Given the description of an element on the screen output the (x, y) to click on. 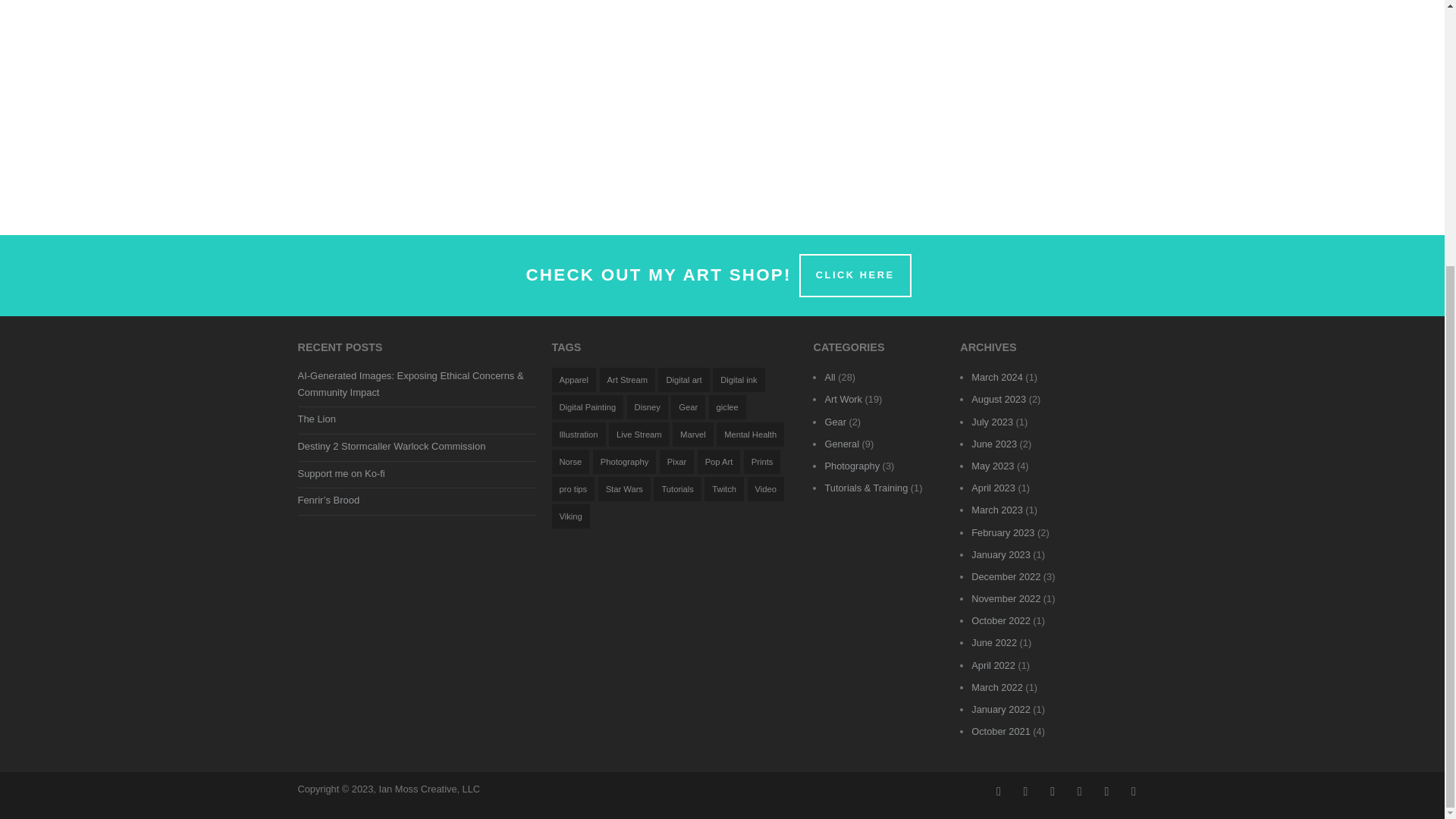
Destiny 2 Stormcaller Warlock Commission (390, 446)
Live Stream (638, 434)
CLICK HERE (855, 275)
Mental Health (750, 434)
Digital ink (739, 379)
The Lion (315, 419)
Digital art (683, 379)
Art Stream (627, 379)
Illustration (578, 434)
Gear (687, 406)
